Given the description of an element on the screen output the (x, y) to click on. 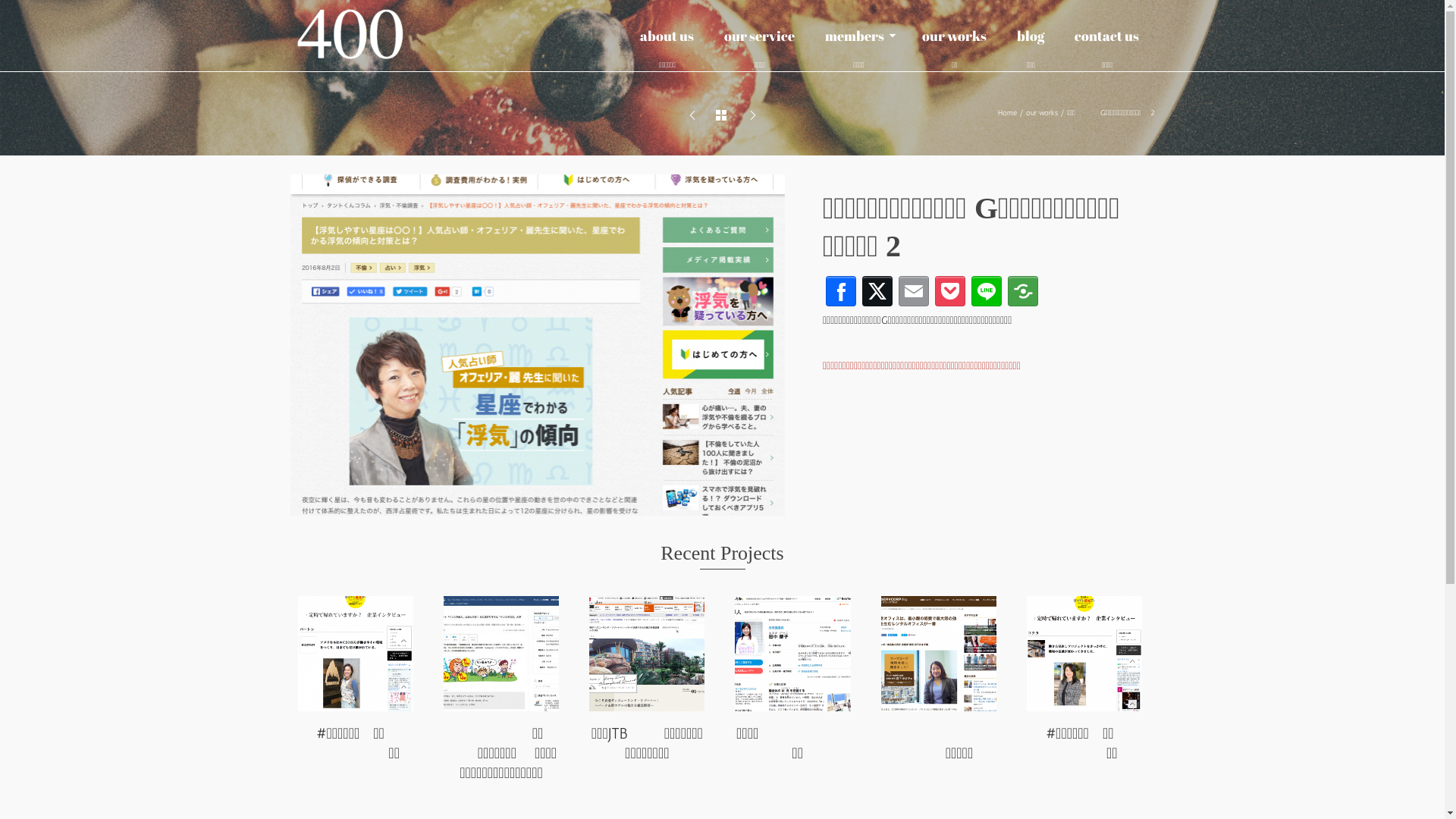
X (Twitter) Element type: hover (877, 291)
Facebook Element type: hover (840, 291)
Pocket Element type: hover (949, 291)
Home Element type: text (1006, 112)
our works Element type: text (1041, 112)
Email This Element type: hover (913, 291)
Line Element type: hover (986, 291)
More Options Element type: hover (1022, 291)
